Given the description of an element on the screen output the (x, y) to click on. 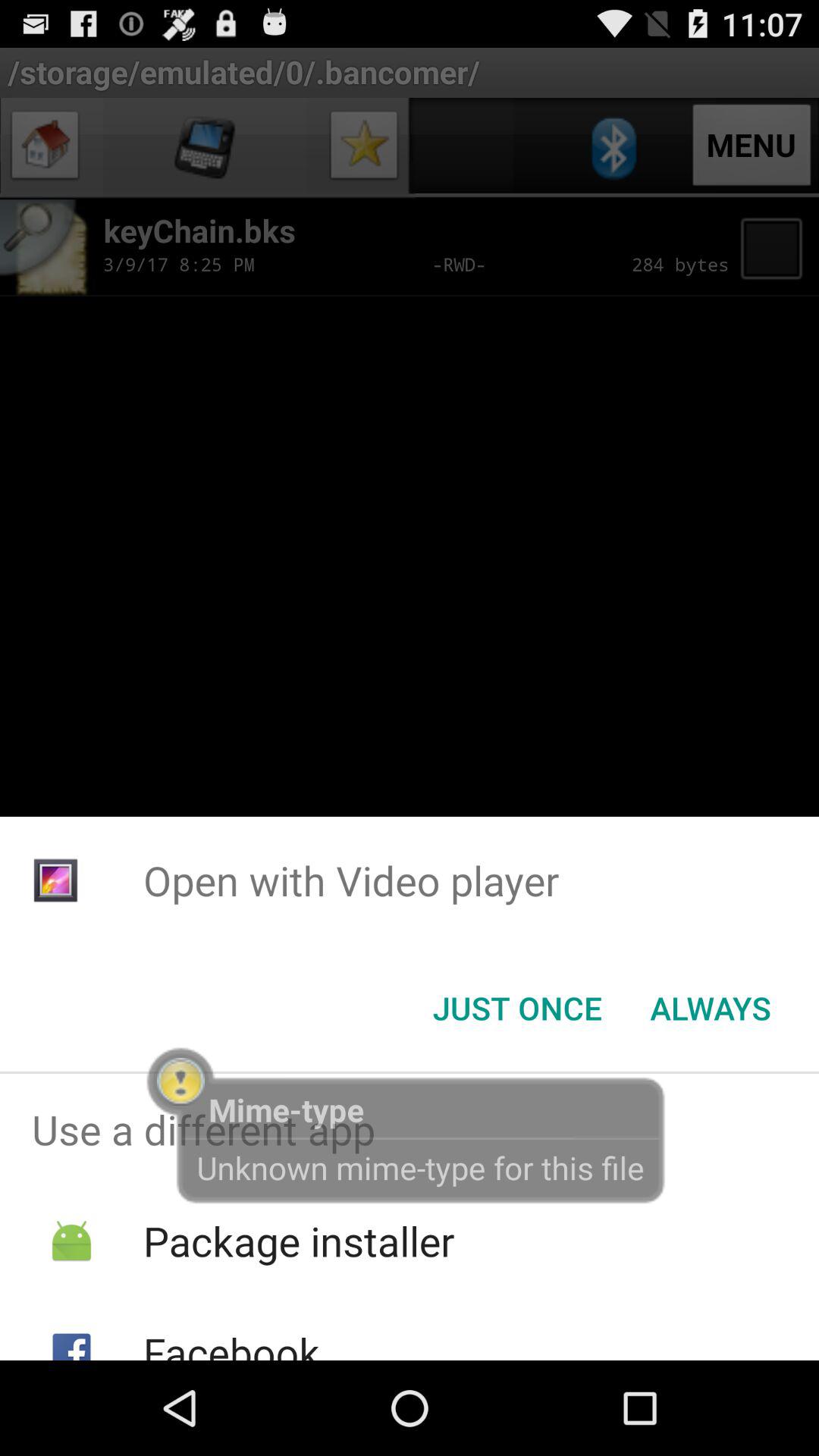
tap package installer (298, 1240)
